Given the description of an element on the screen output the (x, y) to click on. 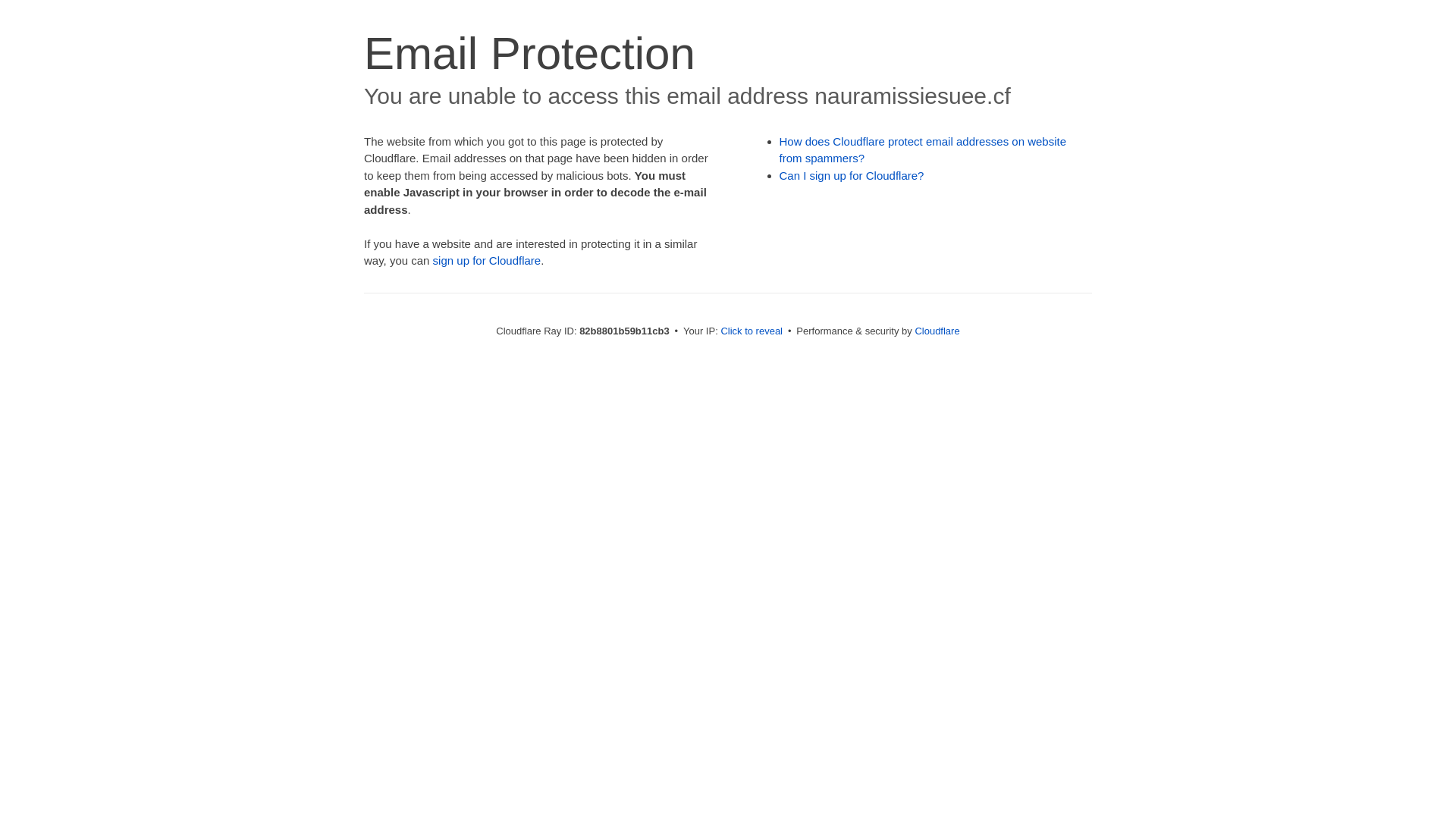
sign up for Cloudflare Element type: text (487, 260)
Can I sign up for Cloudflare? Element type: text (851, 175)
Cloudflare Element type: text (936, 330)
Click to reveal Element type: text (751, 330)
